Given the description of an element on the screen output the (x, y) to click on. 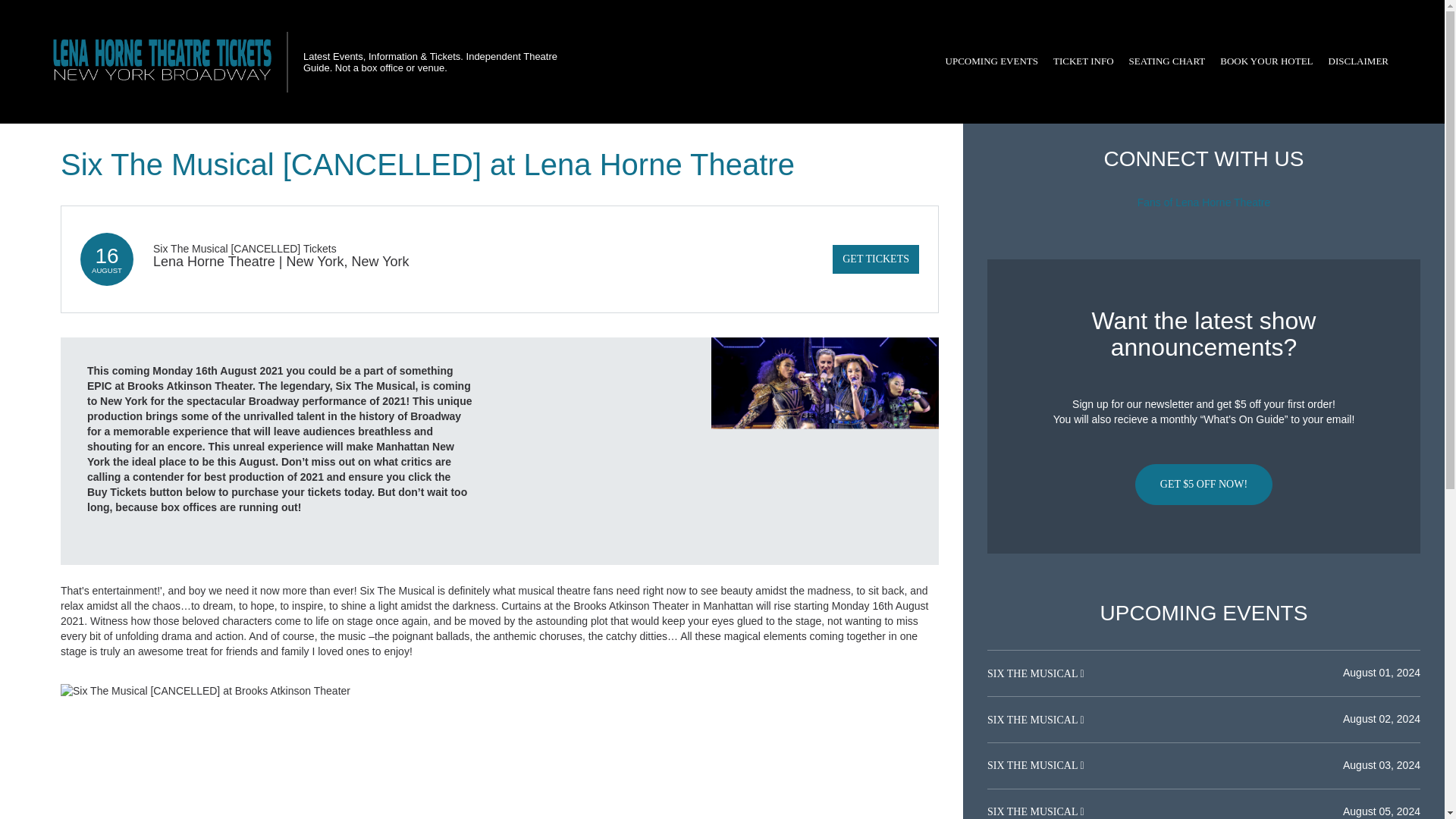
Fans of Lena Horne Theatre (1204, 202)
SEATING CHART (1166, 61)
GET TICKETS (875, 258)
TICKET INFO (1083, 61)
UPCOMING EVENTS (991, 61)
BOOK YOUR HOTEL (1266, 61)
DISCLAIMER (1358, 61)
